Given the description of an element on the screen output the (x, y) to click on. 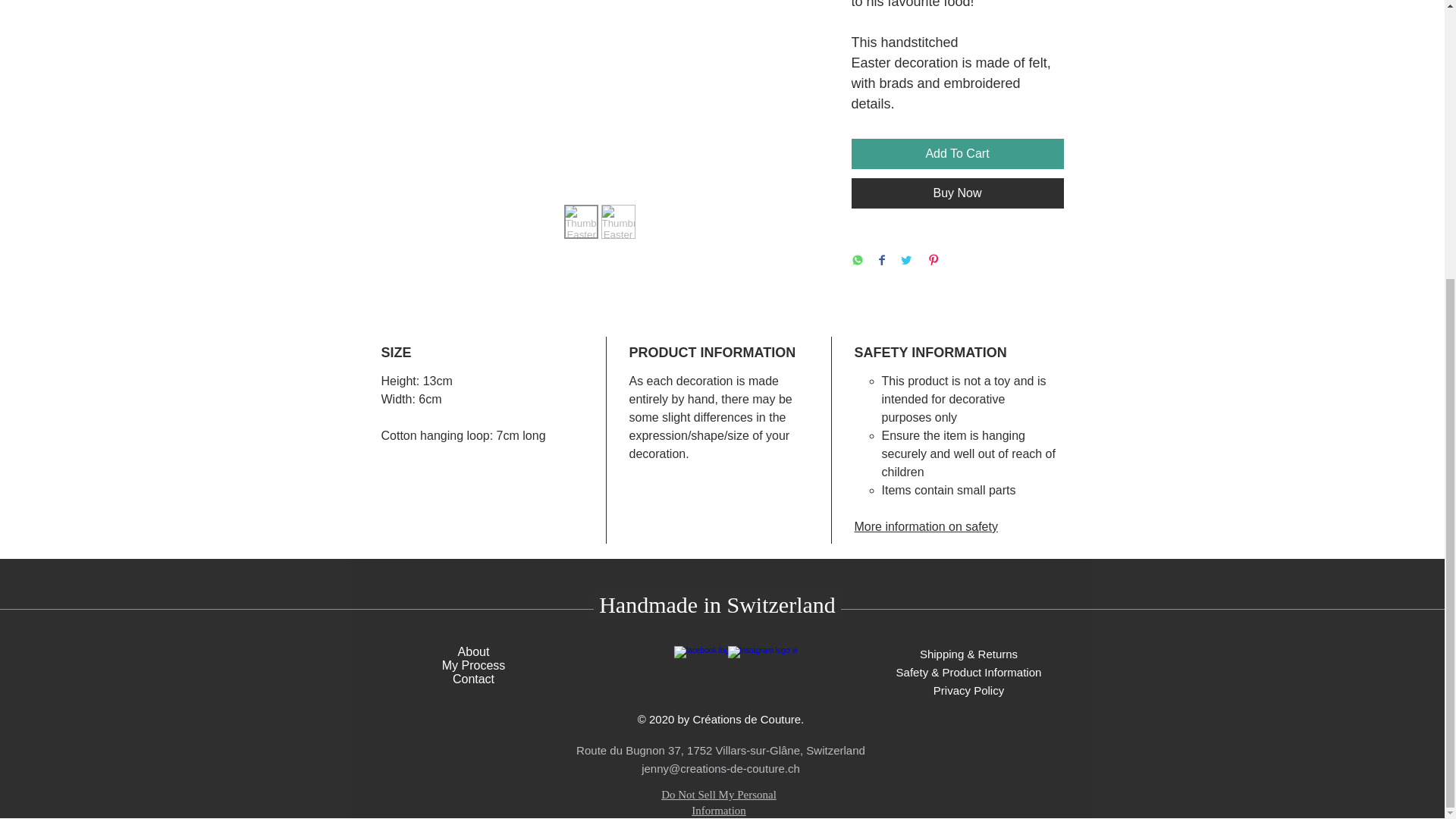
Add To Cart (956, 153)
Privacy Policy (968, 689)
My Process (473, 665)
Contact (473, 678)
About (473, 651)
Buy Now (956, 193)
More information on safety (925, 526)
